Given the description of an element on the screen output the (x, y) to click on. 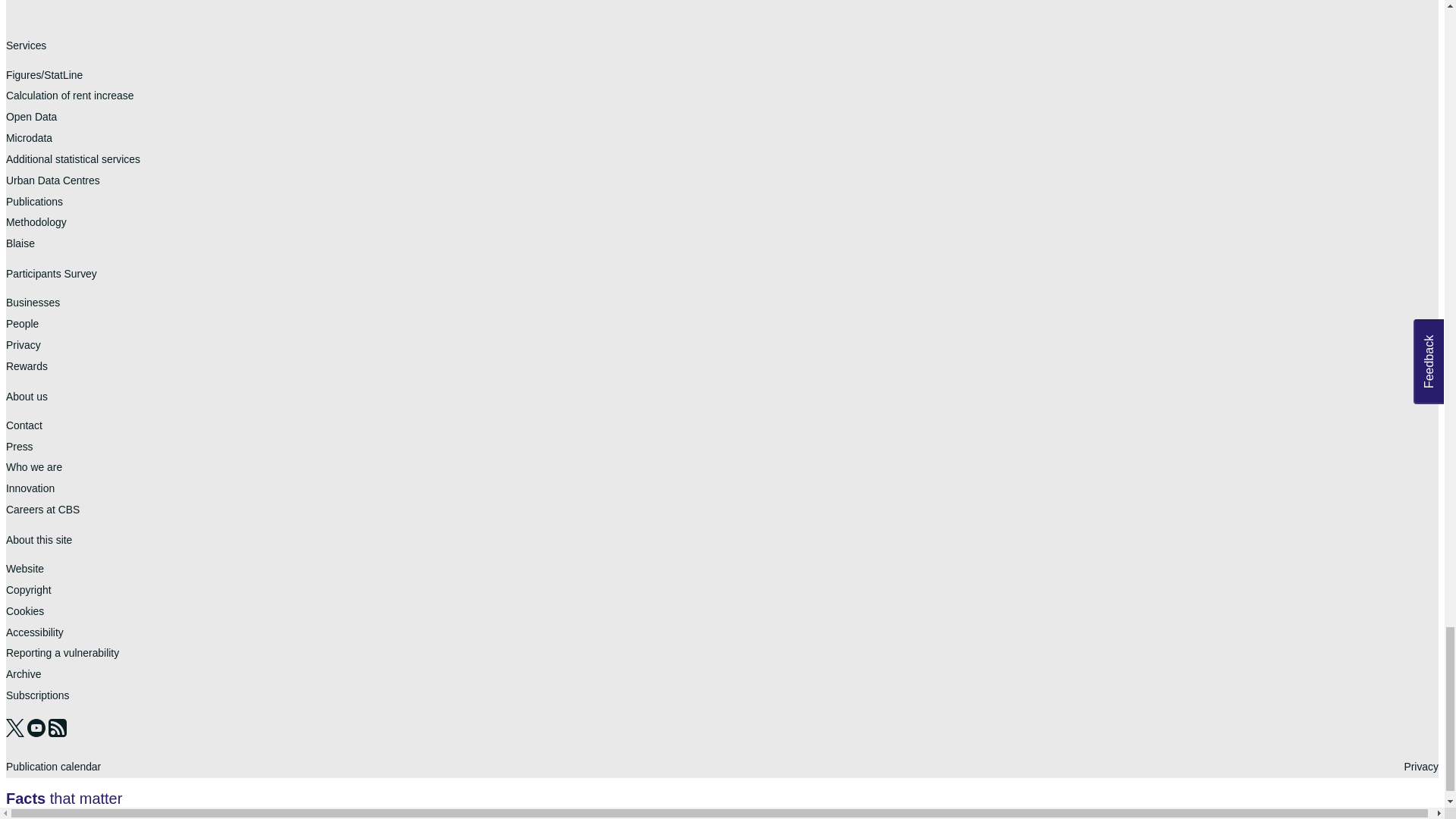
X (16, 733)
